Given the description of an element on the screen output the (x, y) to click on. 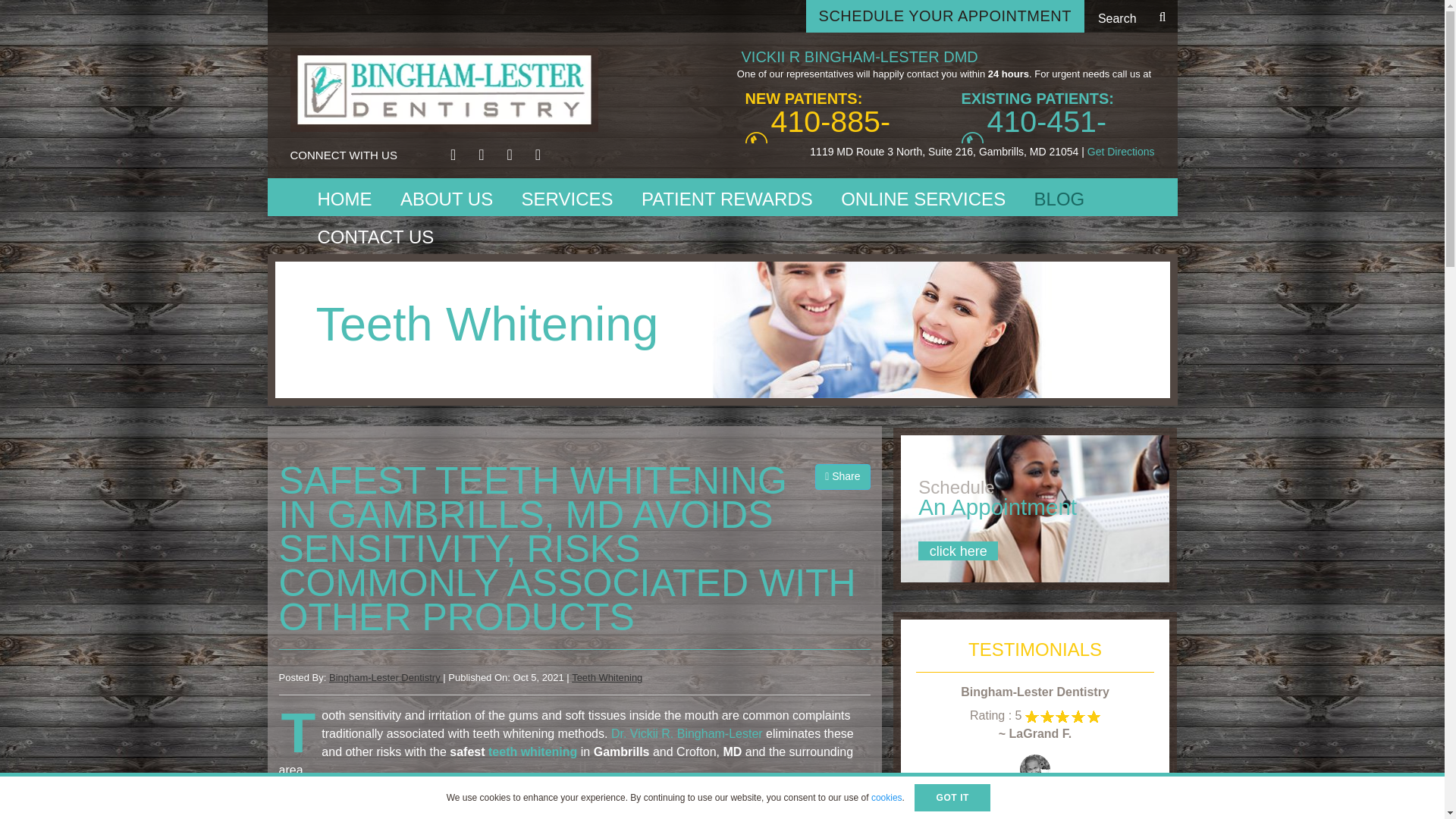
Scroll (1414, 788)
